Given the description of an element on the screen output the (x, y) to click on. 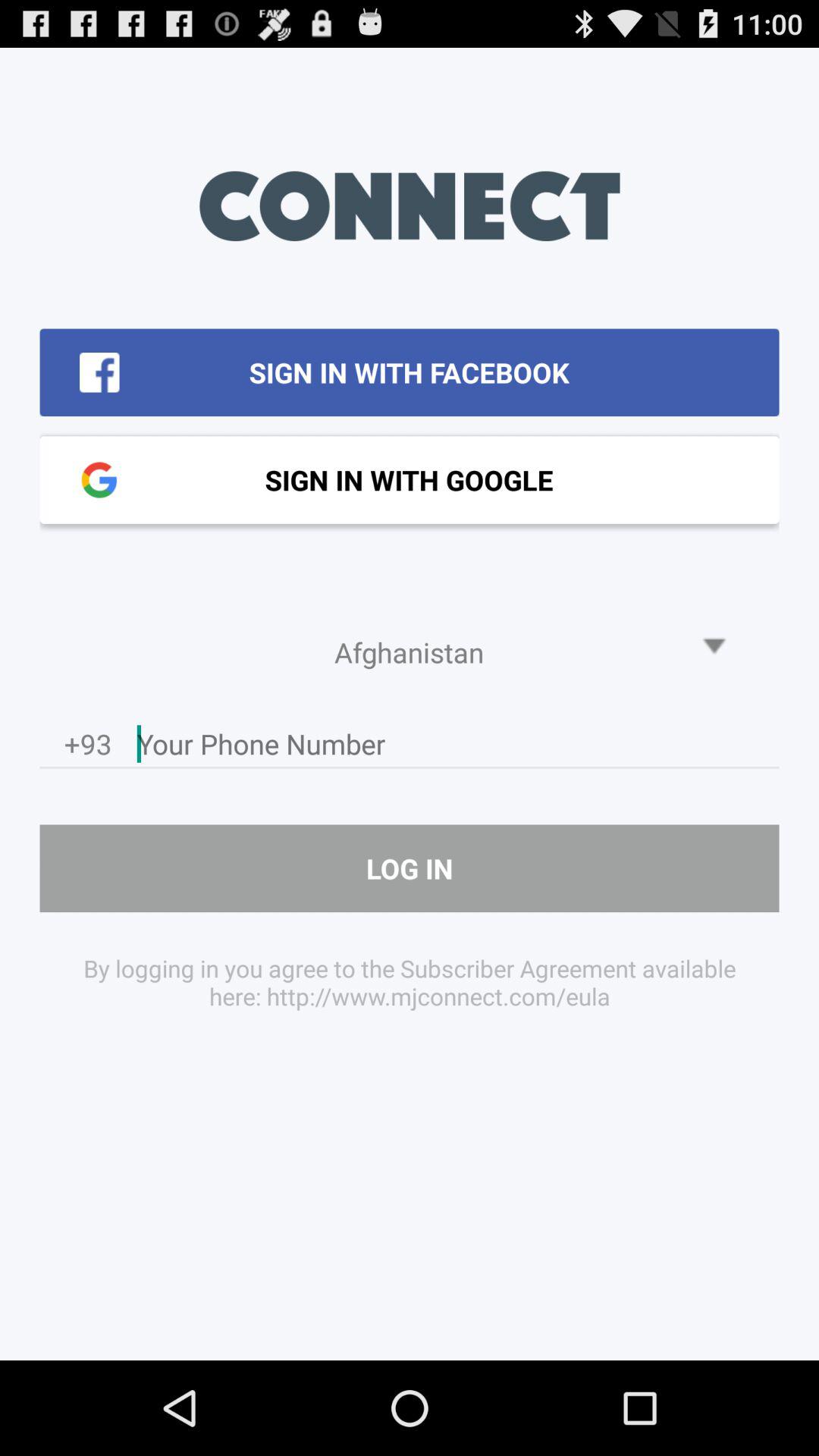
swipe to +93 icon (88, 747)
